Given the description of an element on the screen output the (x, y) to click on. 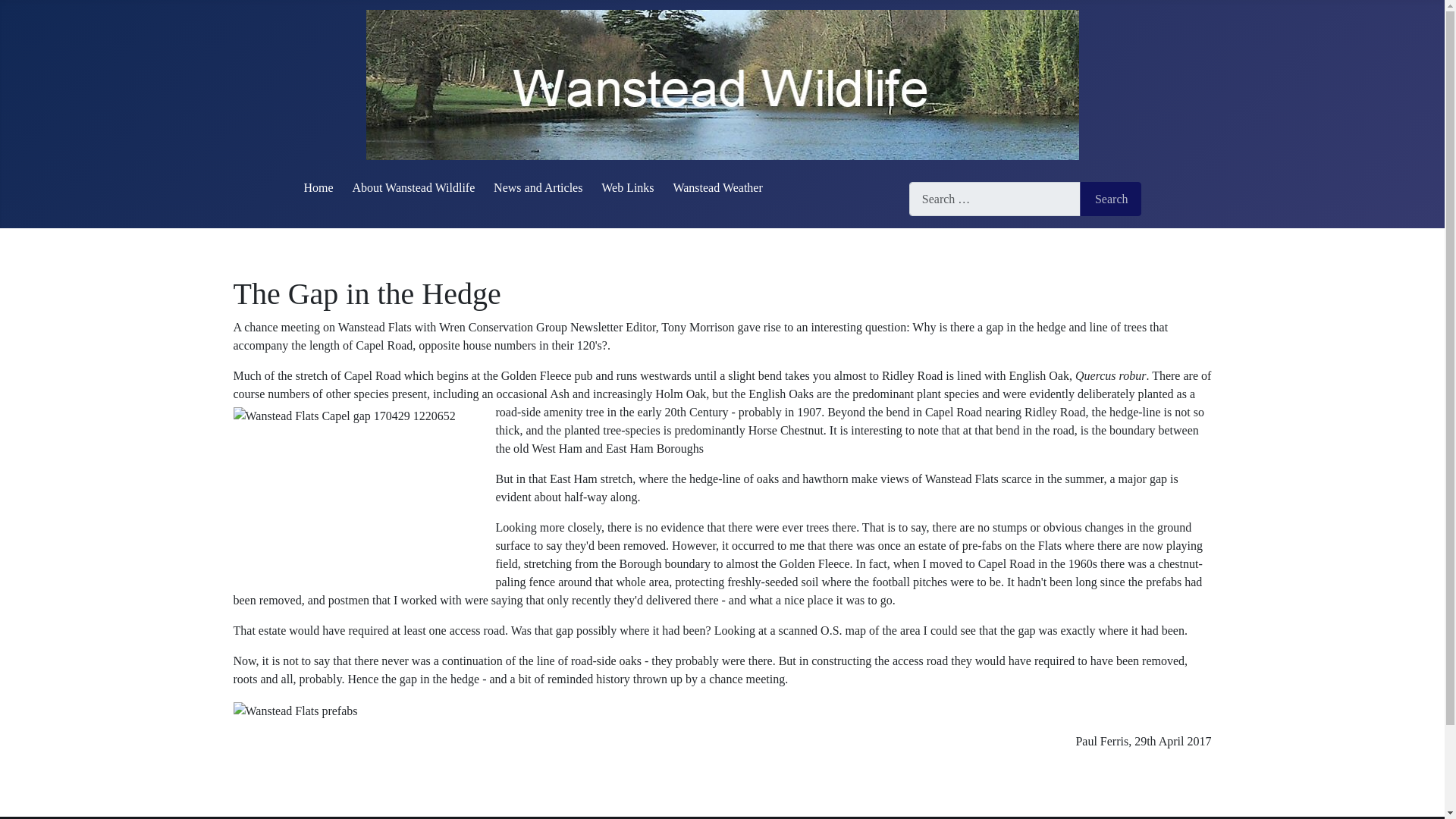
News and Articles (537, 187)
About Wanstead Wildlife (413, 187)
Home (317, 187)
Search (1110, 198)
Wanstead Weather (716, 187)
Web Links (627, 187)
